Given the description of an element on the screen output the (x, y) to click on. 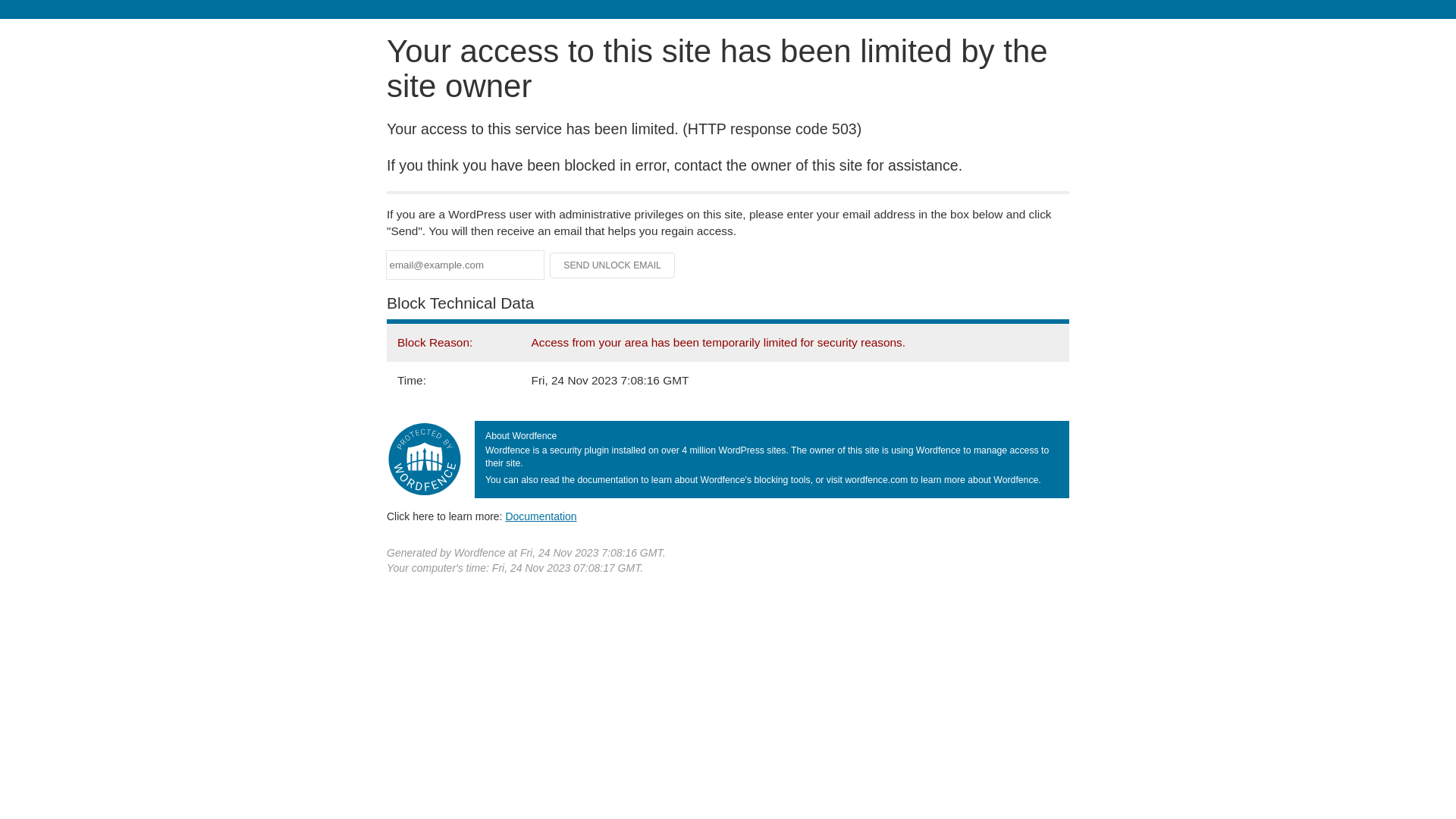
Send Unlock Email Element type: text (612, 265)
Documentation Element type: text (540, 516)
